Given the description of an element on the screen output the (x, y) to click on. 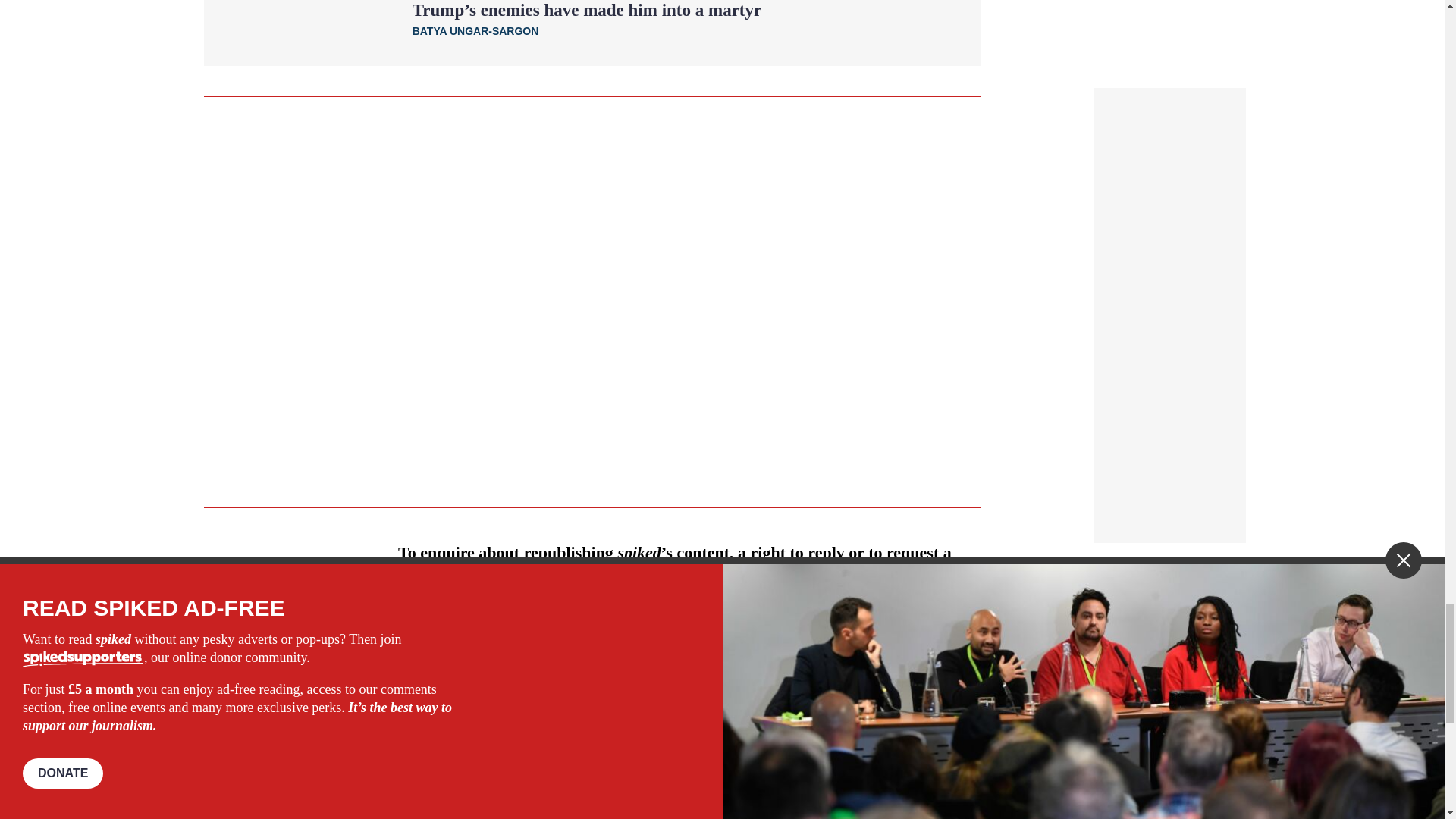
Share on Twitter (471, 637)
Share on Whatsapp (494, 637)
Share on Facebook (448, 637)
Share on Email (518, 637)
